Given the description of an element on the screen output the (x, y) to click on. 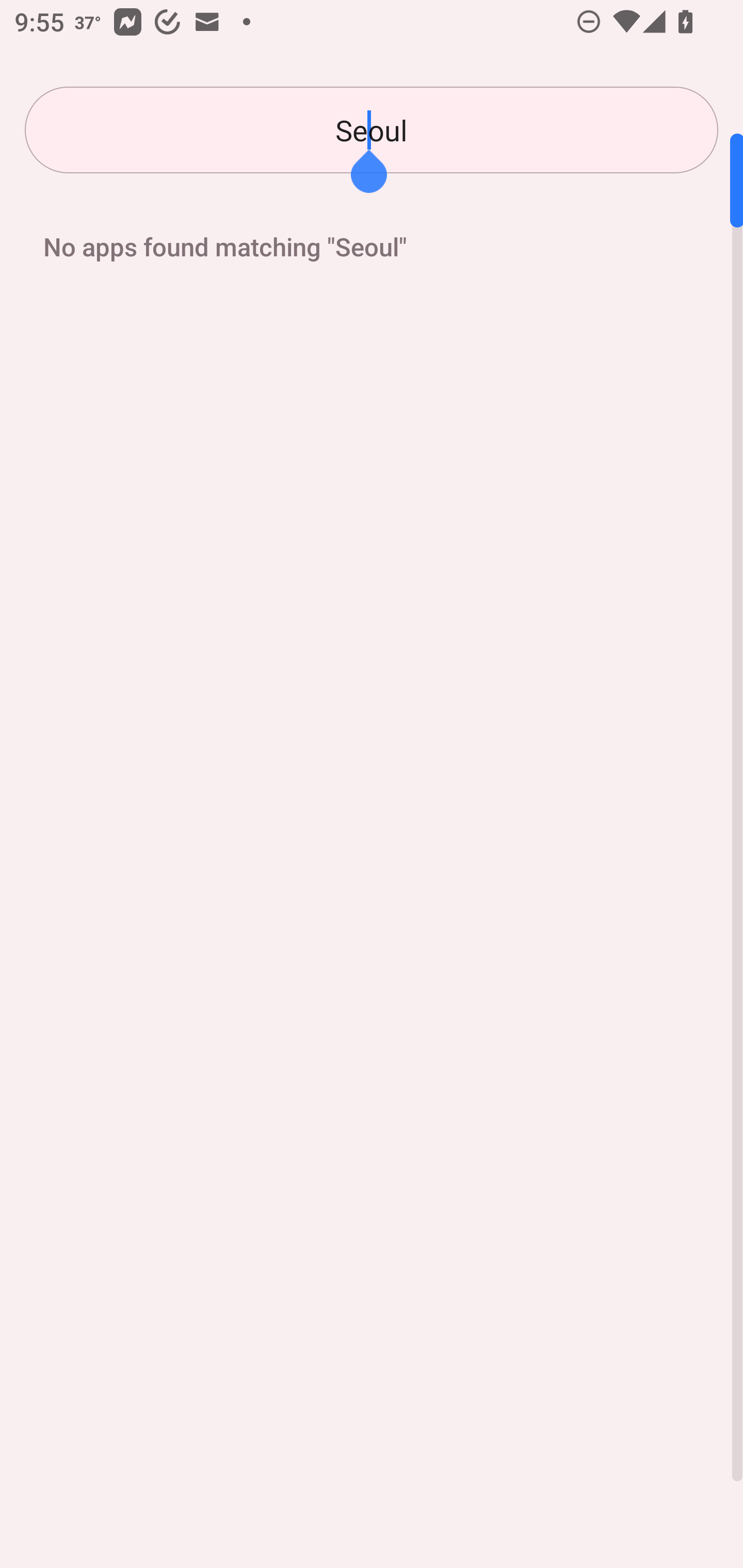
Seoul (371, 130)
